Given the description of an element on the screen output the (x, y) to click on. 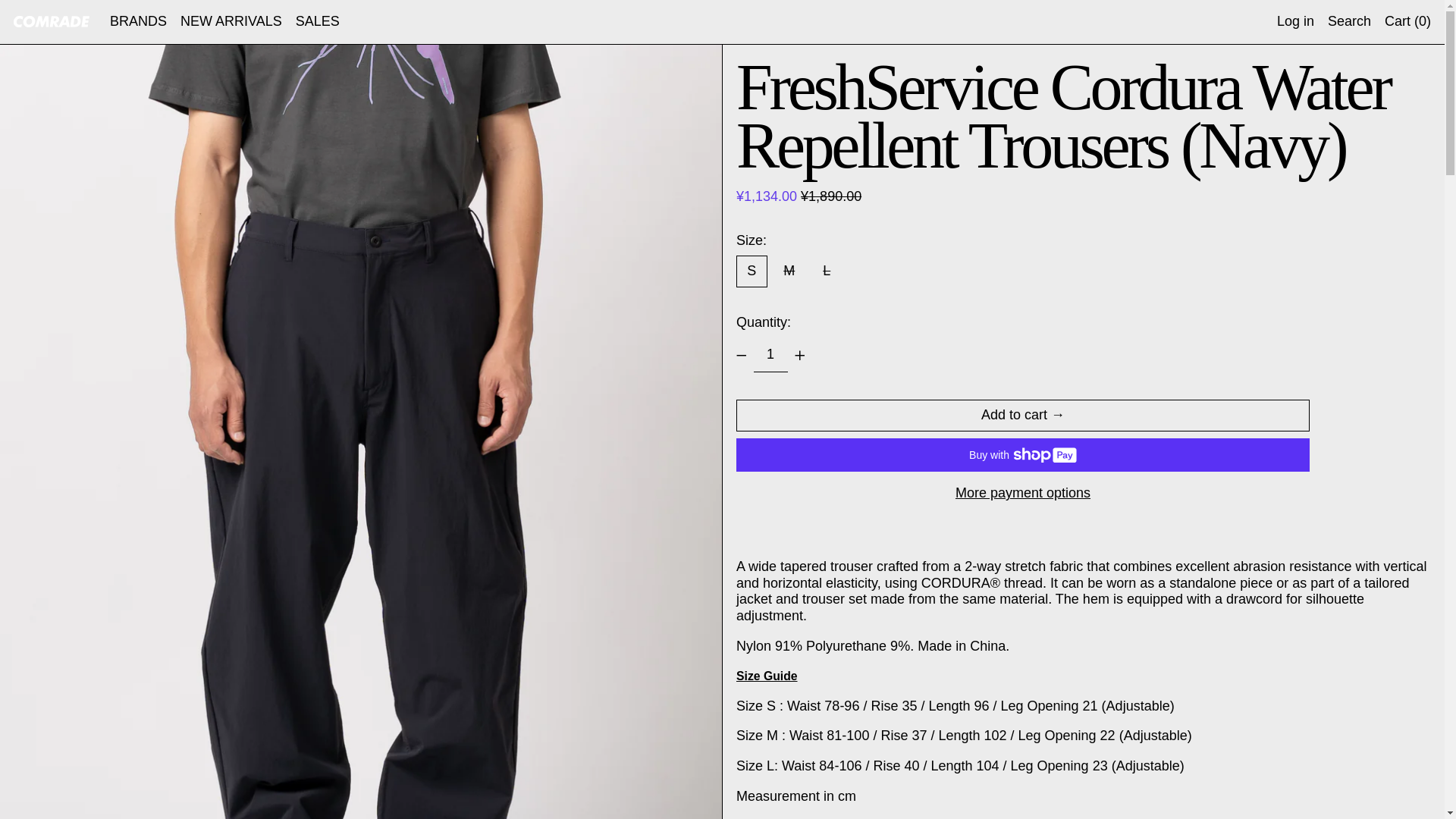
NEW ARRIVALS (231, 22)
Log in (1295, 22)
Add to cart (1022, 415)
SALES (317, 22)
More payment options (1022, 493)
1 (770, 354)
BRANDS (138, 22)
Search (1349, 22)
